Given the description of an element on the screen output the (x, y) to click on. 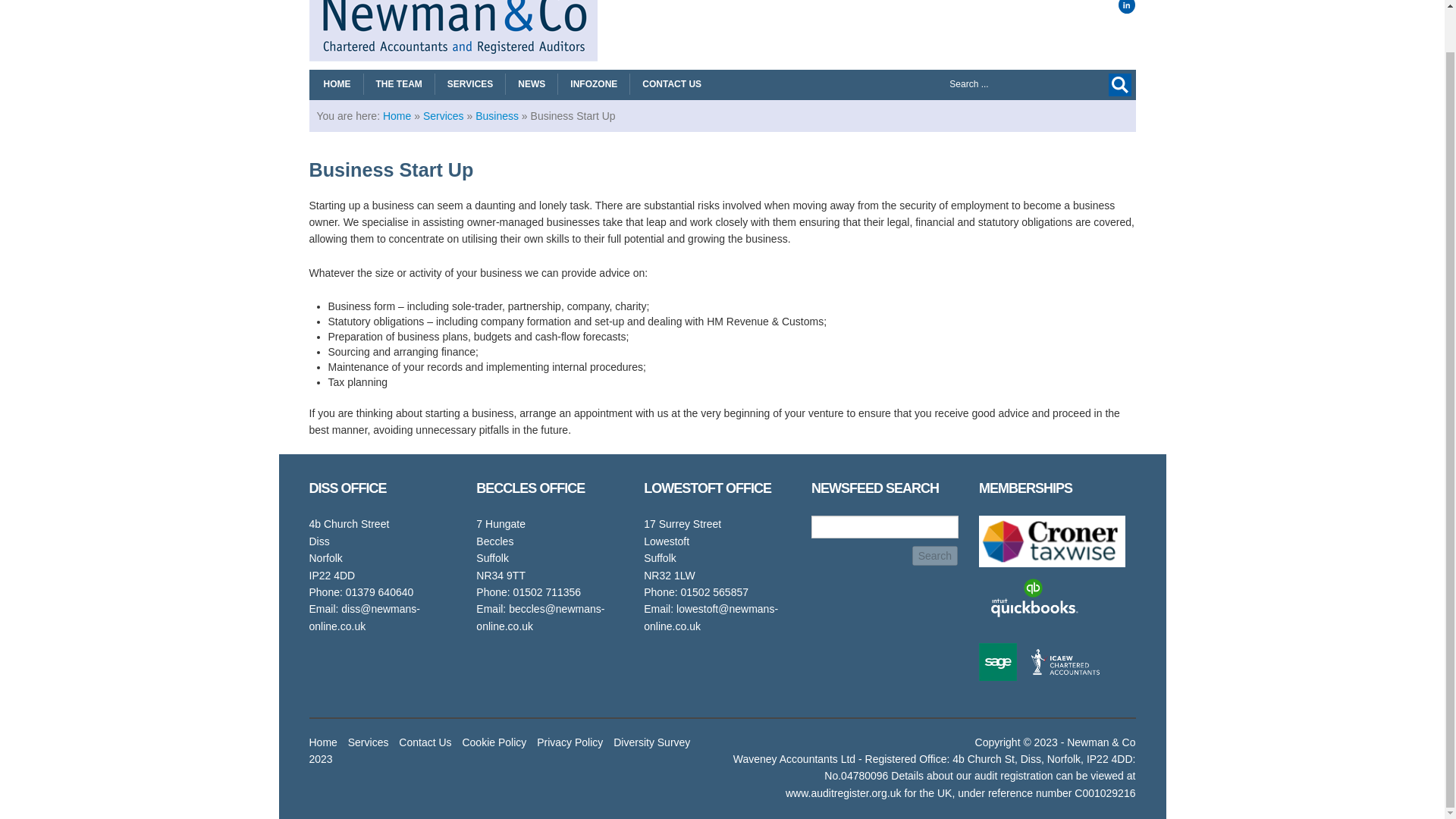
Search (1119, 84)
HOME (337, 84)
Search (935, 555)
SERVICES (469, 84)
NEWS (531, 84)
INFOZONE (593, 84)
CONTACT US (671, 84)
Search ... (988, 84)
THE TEAM (398, 84)
Linkedin (1126, 6)
Search (935, 555)
Linkedin (1126, 6)
